Given the description of an element on the screen output the (x, y) to click on. 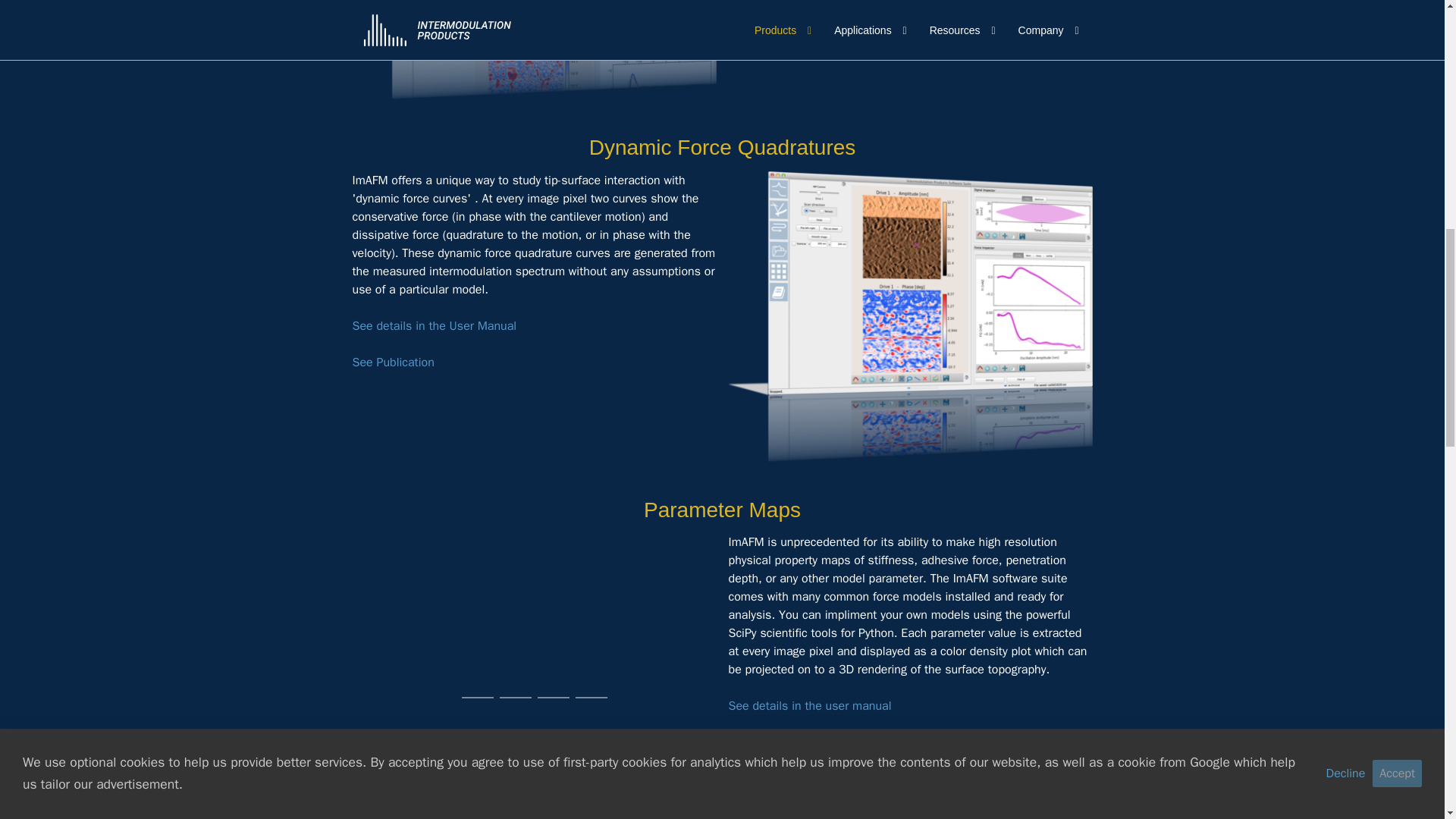
See details in the user manual (809, 705)
See Publication (392, 362)
See details in the User Manual (434, 325)
